Given the description of an element on the screen output the (x, y) to click on. 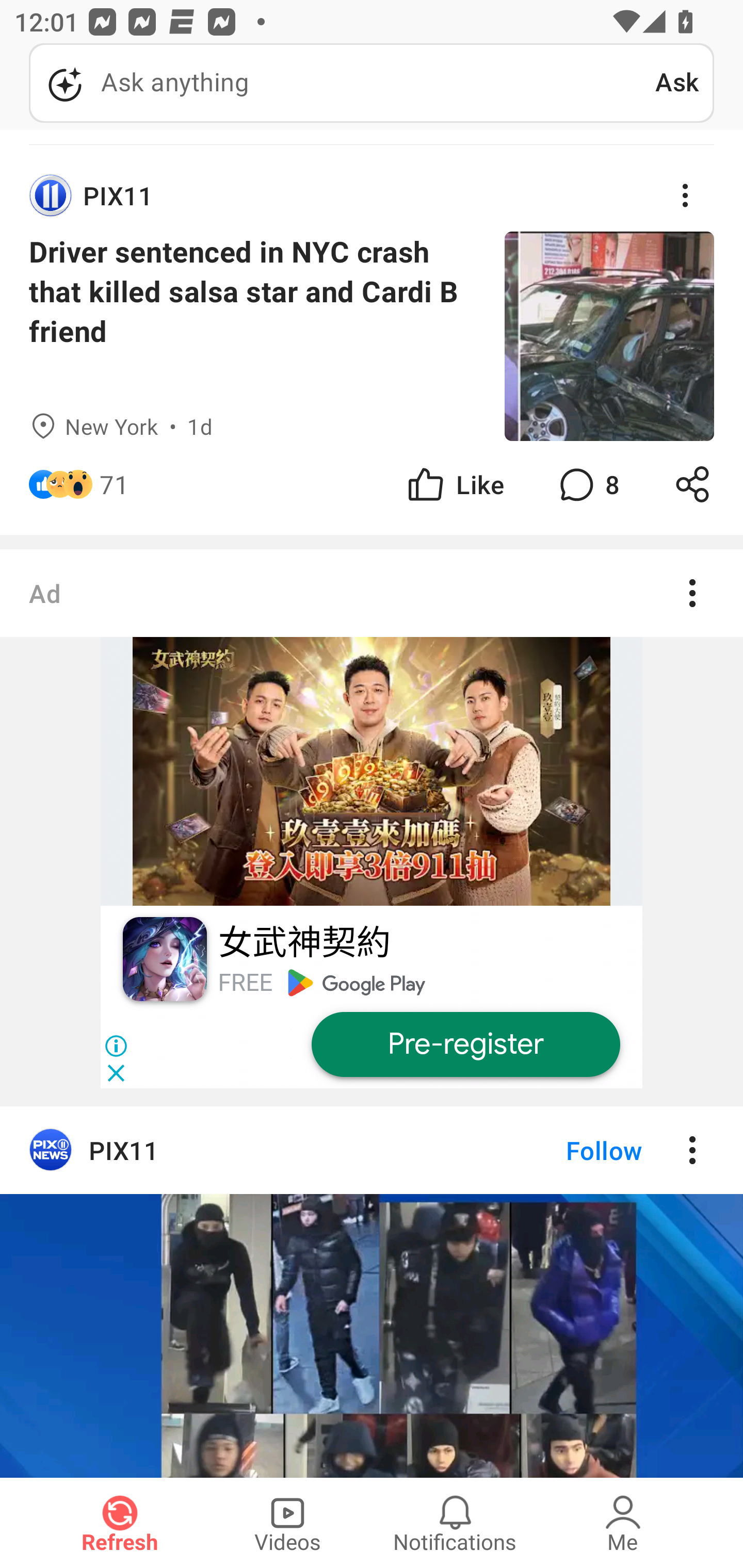
Ask anything (341, 82)
71 (114, 484)
Like (454, 484)
8 (587, 484)
女武神契約 (303, 943)
FREE (245, 982)
Pre-register (464, 1043)
PIX11 Follow (371, 1292)
PIX11 Follow (371, 1150)
Follow (569, 1150)
Videos (287, 1522)
Notifications (455, 1522)
Me (622, 1522)
